Given the description of an element on the screen output the (x, y) to click on. 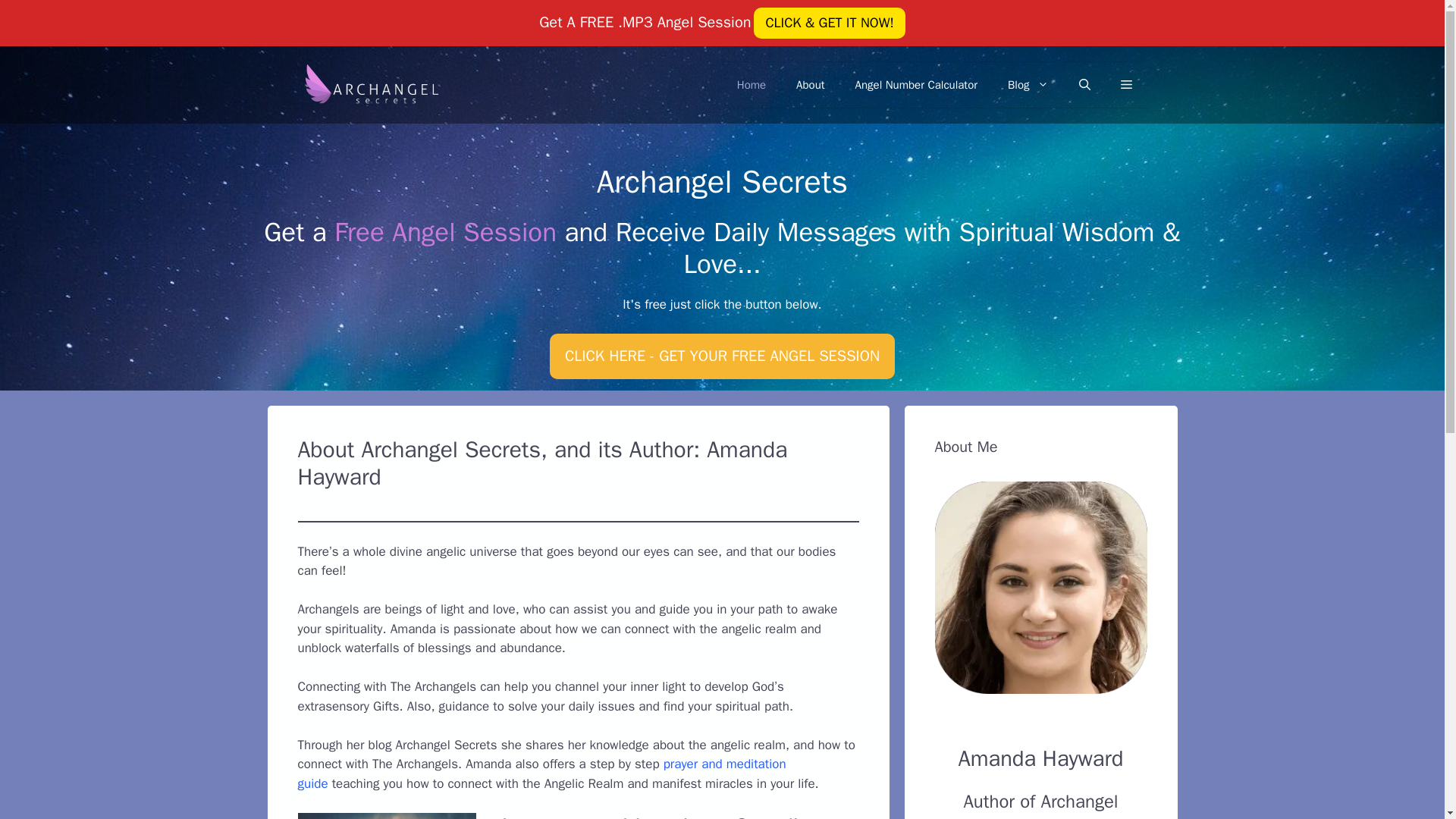
Archangel Secrets (369, 85)
Blog (1027, 84)
Angel Number Calculator (916, 84)
prayer and meditation guide (541, 773)
Archangel Secrets (369, 83)
Home (751, 84)
About (810, 84)
CLICK HERE - GET YOUR FREE ANGEL SESSION (722, 356)
Take Action Now! (104, 15)
